Given the description of an element on the screen output the (x, y) to click on. 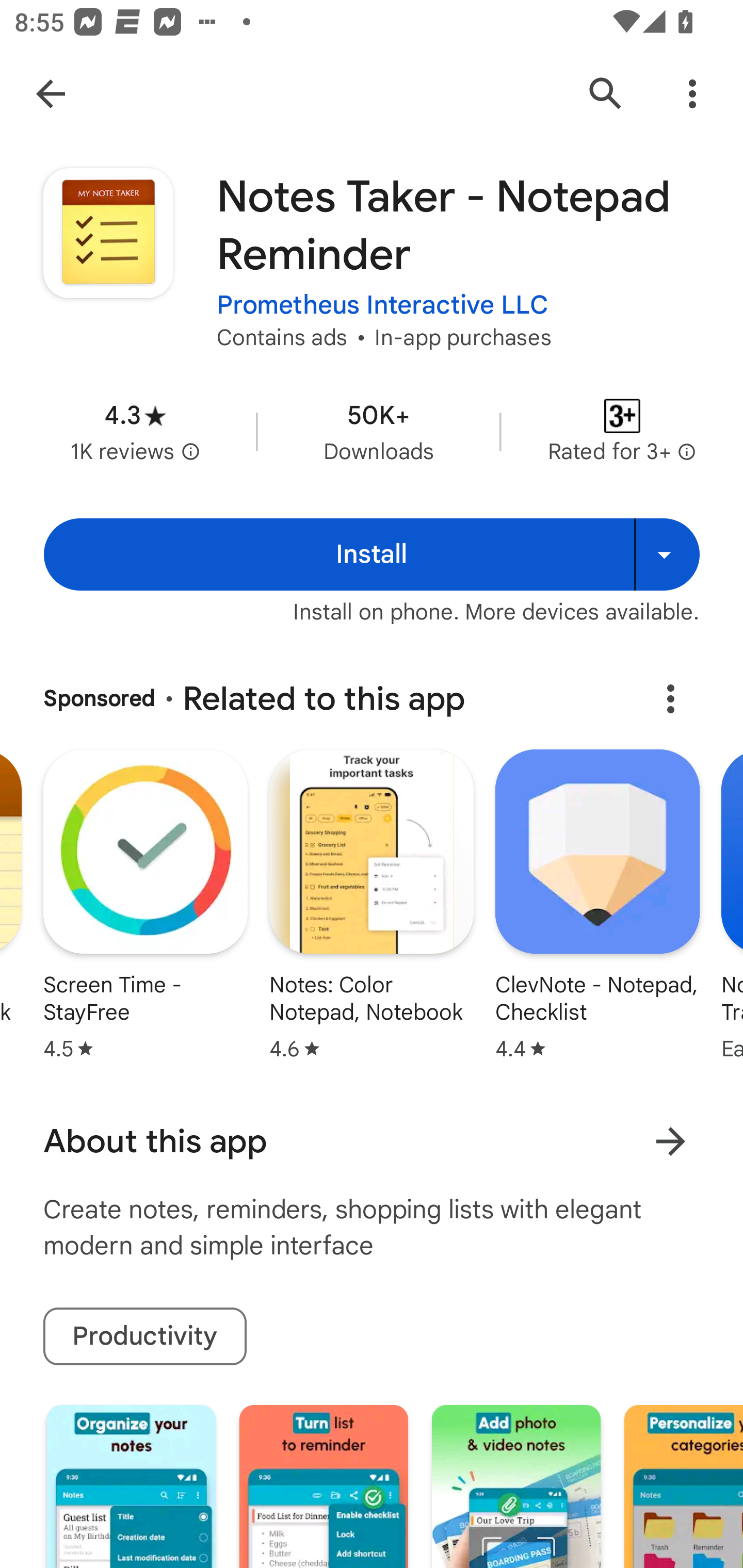
Navigate up (50, 93)
Search Google Play (605, 93)
More Options (692, 93)
Prometheus Interactive LLC (382, 304)
Average rating 4.3 stars in 1 thousand reviews (135, 431)
Content rating Rated for 3+ (622, 431)
Install Install Install on more devices (371, 554)
Install on more devices (667, 554)
About this ad (670, 698)
Screen Time - StayFree
Star rating: 4.5
 (145, 906)
Notes: Color Notepad, Notebook
Star rating: 4.6
 (371, 906)
ClevNote - Notepad, Checklist
Star rating: 4.4
 (597, 906)
About this app Learn more About this app (371, 1141)
Learn more About this app (670, 1141)
Productivity tag (144, 1336)
Screenshot "1" of "8" (130, 1486)
Screenshot "2" of "8" (323, 1486)
Screenshot "3" of "8" (515, 1486)
Screenshot "4" of "8" (683, 1486)
